Given the description of an element on the screen output the (x, y) to click on. 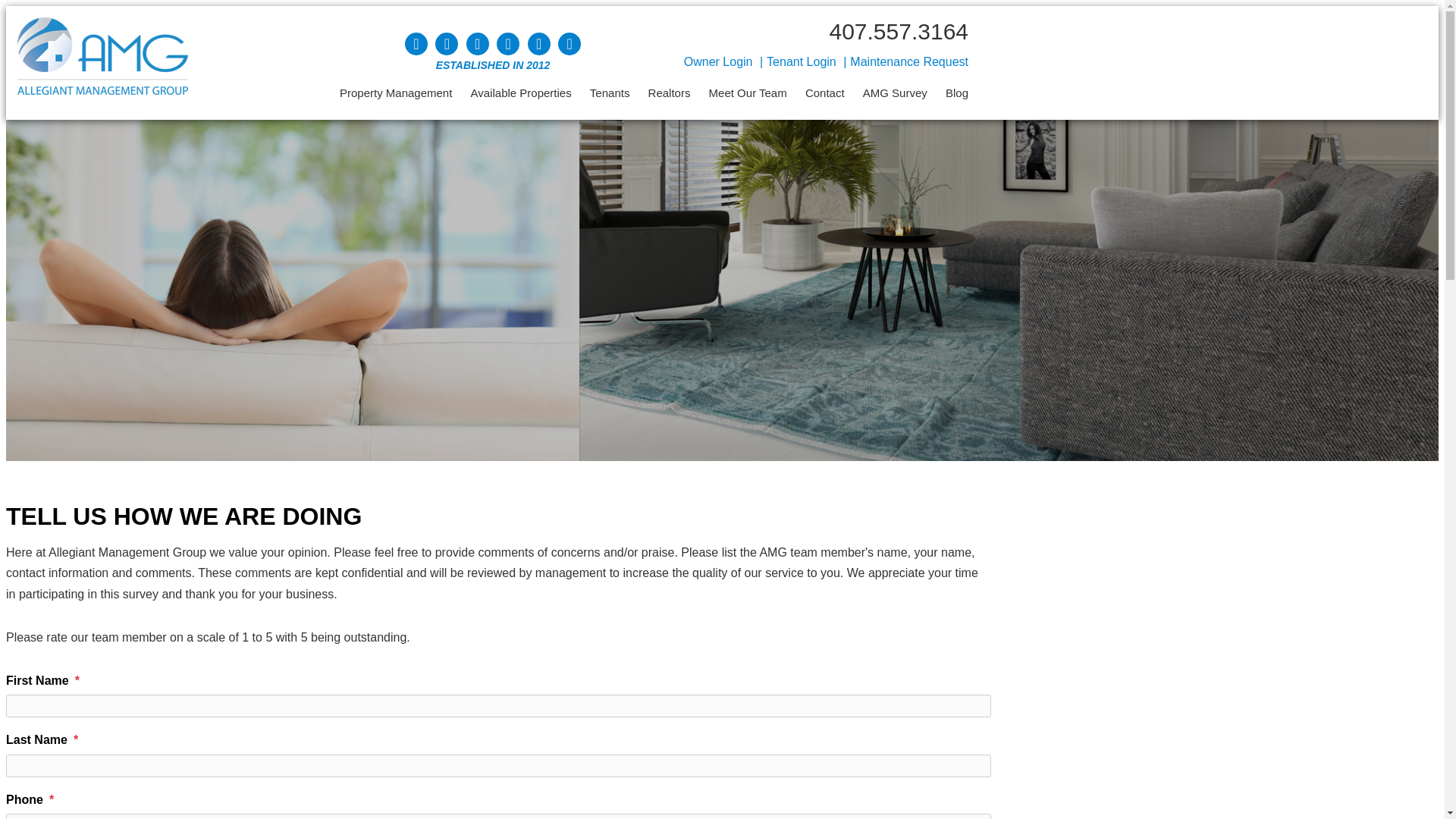
Linked In (507, 43)
Maintenance Request (909, 61)
Blog (956, 92)
AMG Survey (895, 92)
Instagram (538, 43)
Google (568, 43)
Contact (824, 92)
Tenant Login (801, 61)
Youtube (416, 43)
Realtors (668, 92)
Owner Login (718, 61)
Facebook (477, 43)
Property Management (395, 92)
Available Properties (521, 92)
Meet Our Team (748, 92)
